Given the description of an element on the screen output the (x, y) to click on. 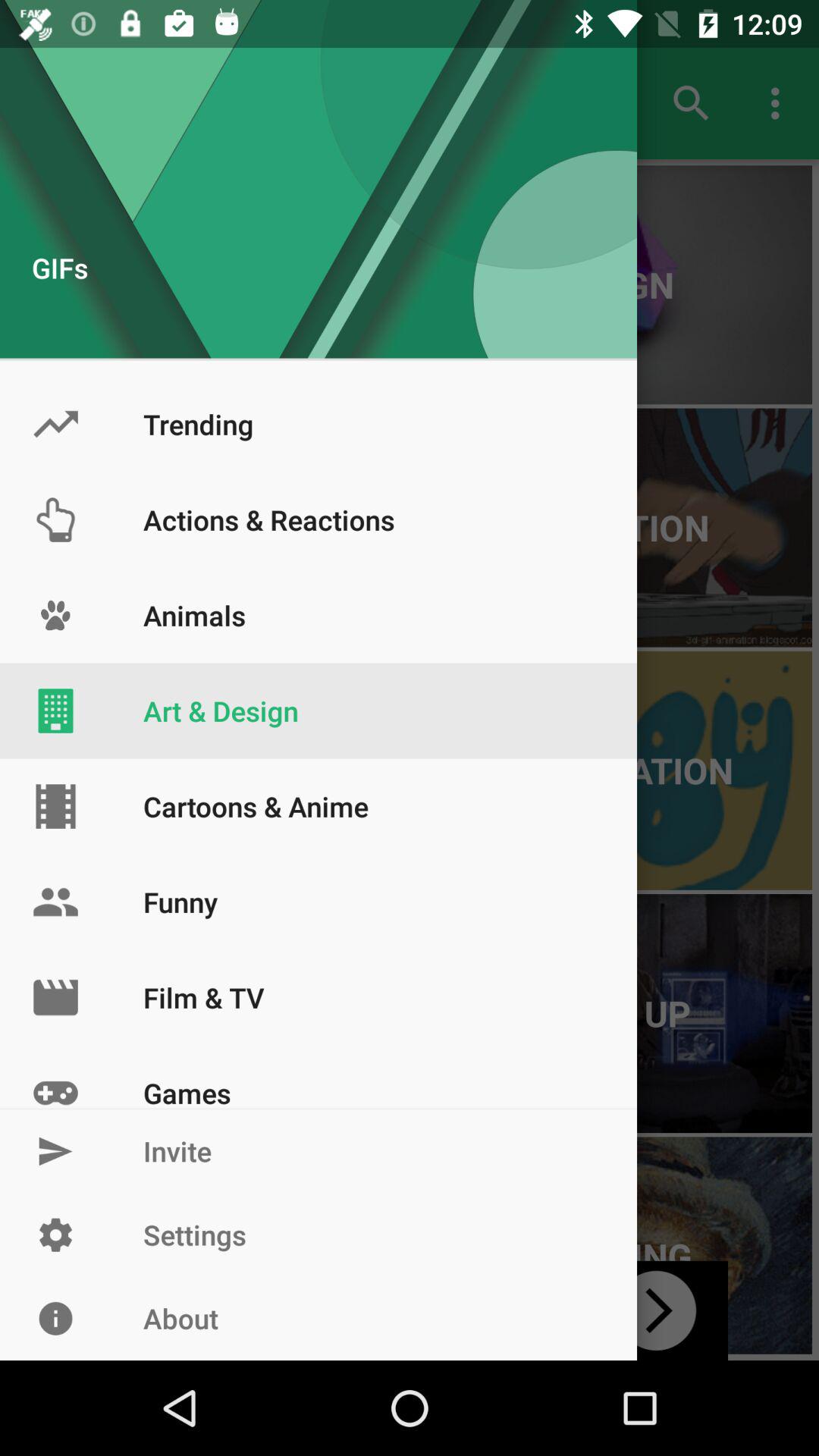
click on the icon left to the games (55, 1077)
click on paw symbol which is on the left side of animals (55, 615)
click on the option button which is righht hand side of play store (779, 103)
